Given the description of an element on the screen output the (x, y) to click on. 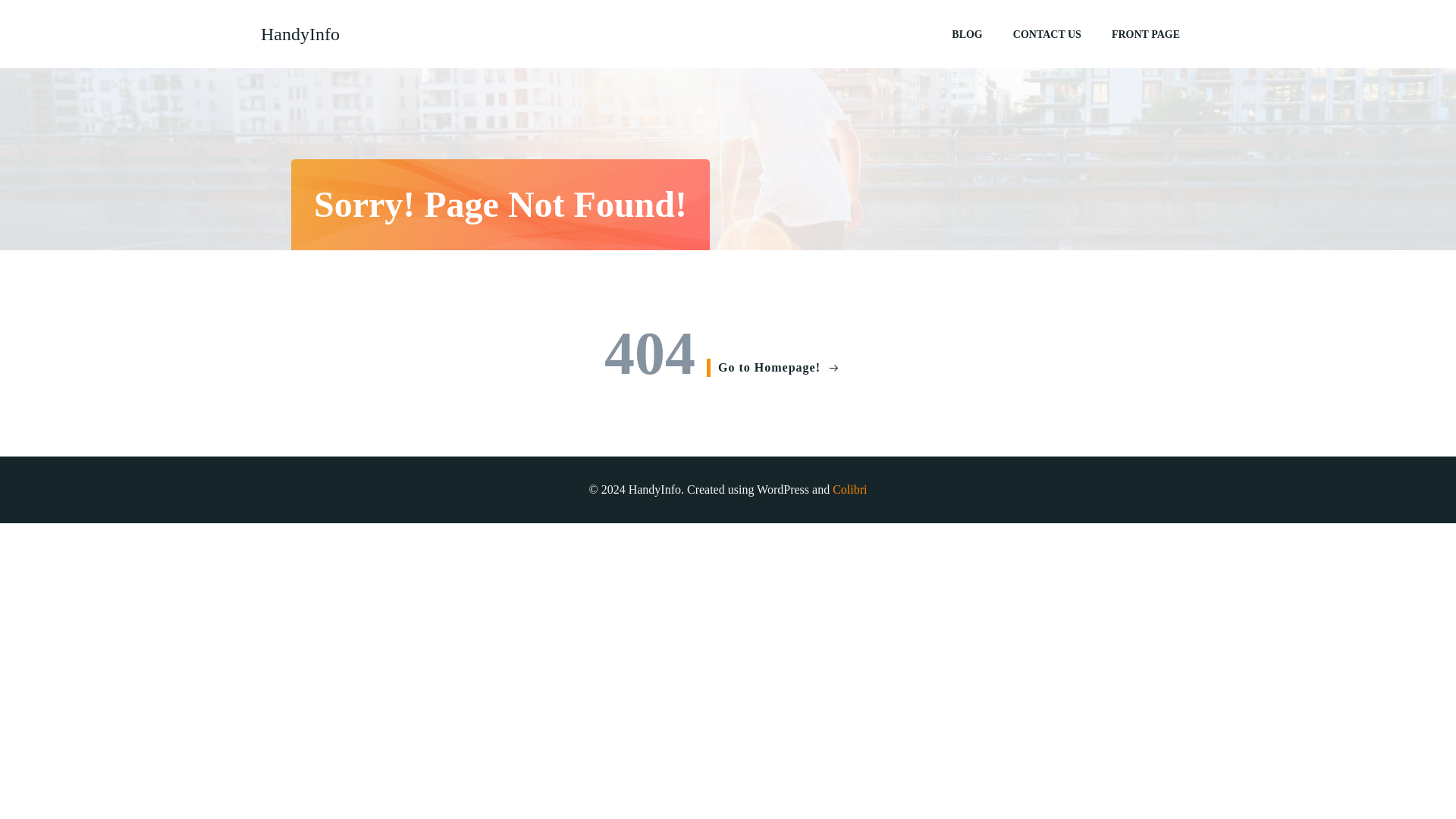
FRONT PAGE (1145, 33)
BLOG (966, 33)
HandyInfo (299, 33)
Colibri (849, 489)
CONTACT US (1047, 33)
Go to Homepage! (773, 367)
